Given the description of an element on the screen output the (x, y) to click on. 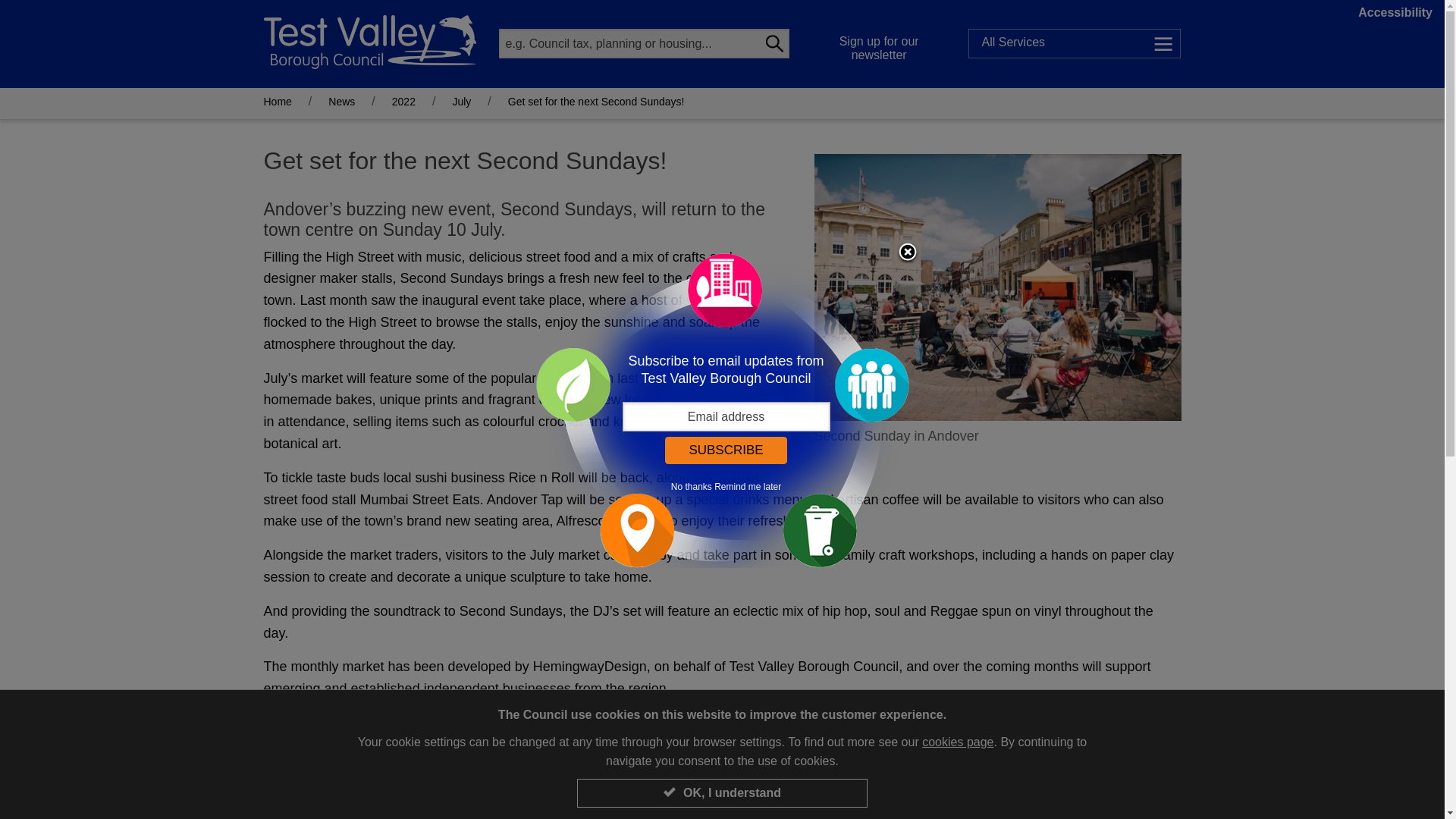
All Services (1074, 43)
Sign up for our newsletter (879, 43)
July (460, 101)
News (342, 101)
Subscribe (725, 450)
Link to Test Valley home page (369, 41)
Home (277, 101)
Go (774, 43)
Email address (725, 416)
2022 (402, 101)
